Given the description of an element on the screen output the (x, y) to click on. 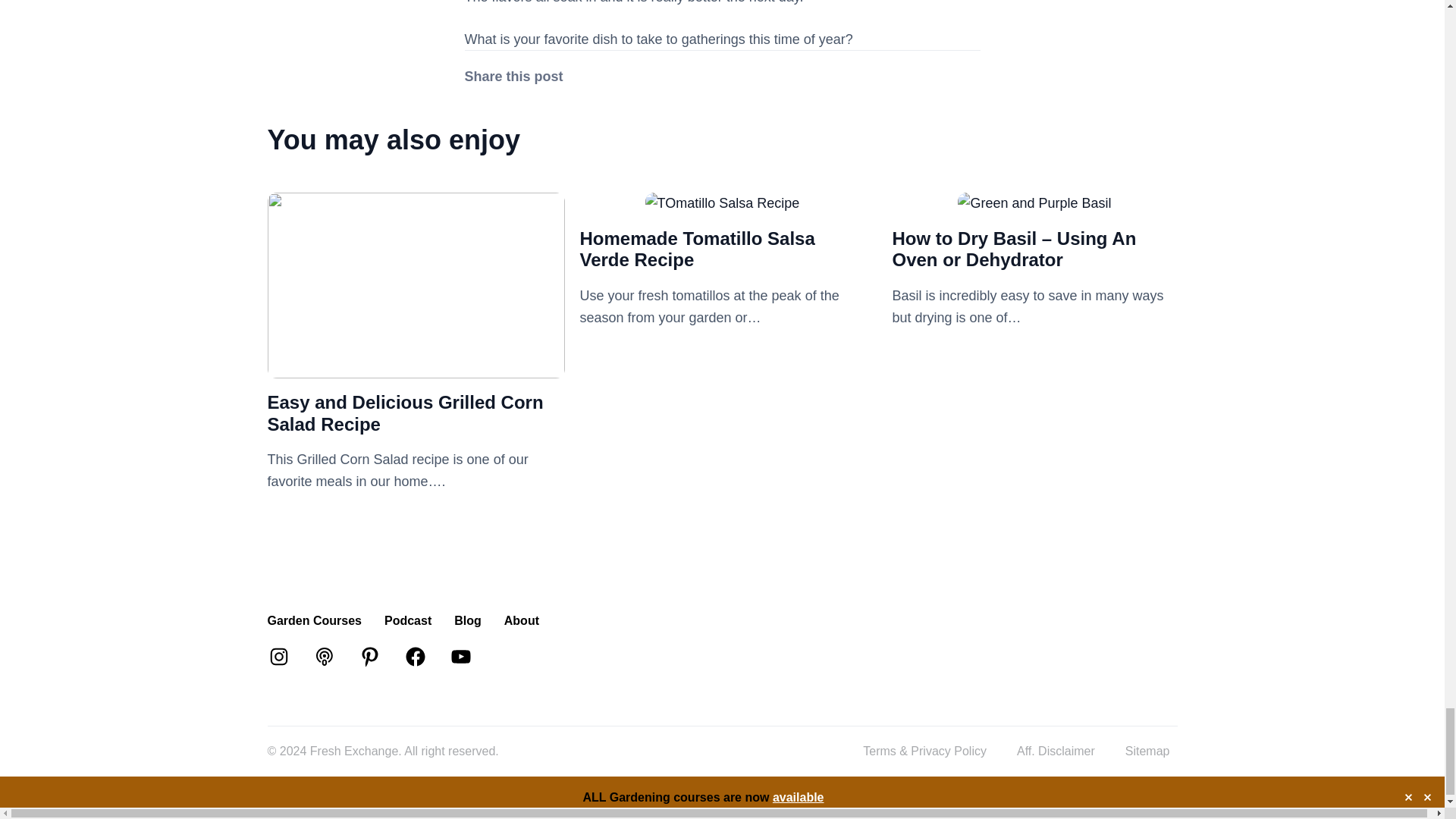
Aff. Disclaimer (1055, 750)
Pinterest (369, 656)
Homemade Tomatillo Salsa Verde Recipe (722, 202)
YouTube (459, 656)
Garden Courses (313, 620)
Homemade Tomatillo Salsa Verde Recipe (696, 248)
Link (323, 656)
About (520, 620)
Instagram (277, 656)
Sitemap (1147, 750)
Easy and Delicious Grilled Corn Salad Recipe (415, 366)
Blog (467, 620)
Facebook (414, 656)
Easy and Delicious Grilled Corn Salad Recipe (404, 413)
Podcast (407, 620)
